Given the description of an element on the screen output the (x, y) to click on. 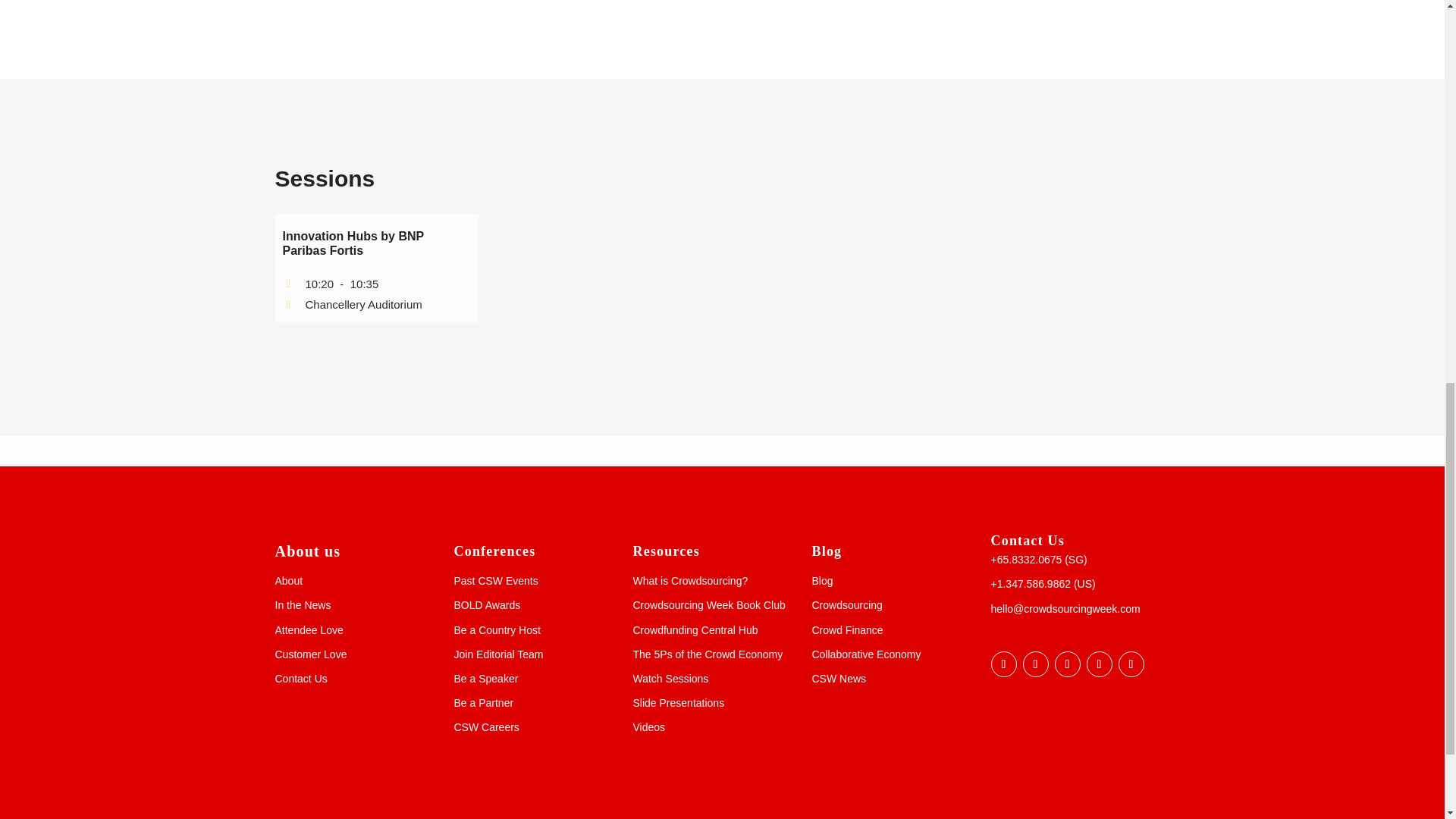
In the News (302, 604)
Attendee Love (308, 630)
Customer Love (310, 654)
Innovation Hubs by BNP Paribas Fortis (352, 243)
Follow on Youtube (1099, 664)
Past CSW Events (494, 580)
BOLD Awards (485, 604)
About (288, 580)
Contact Us (300, 678)
Follow on X (1035, 664)
